Given the description of an element on the screen output the (x, y) to click on. 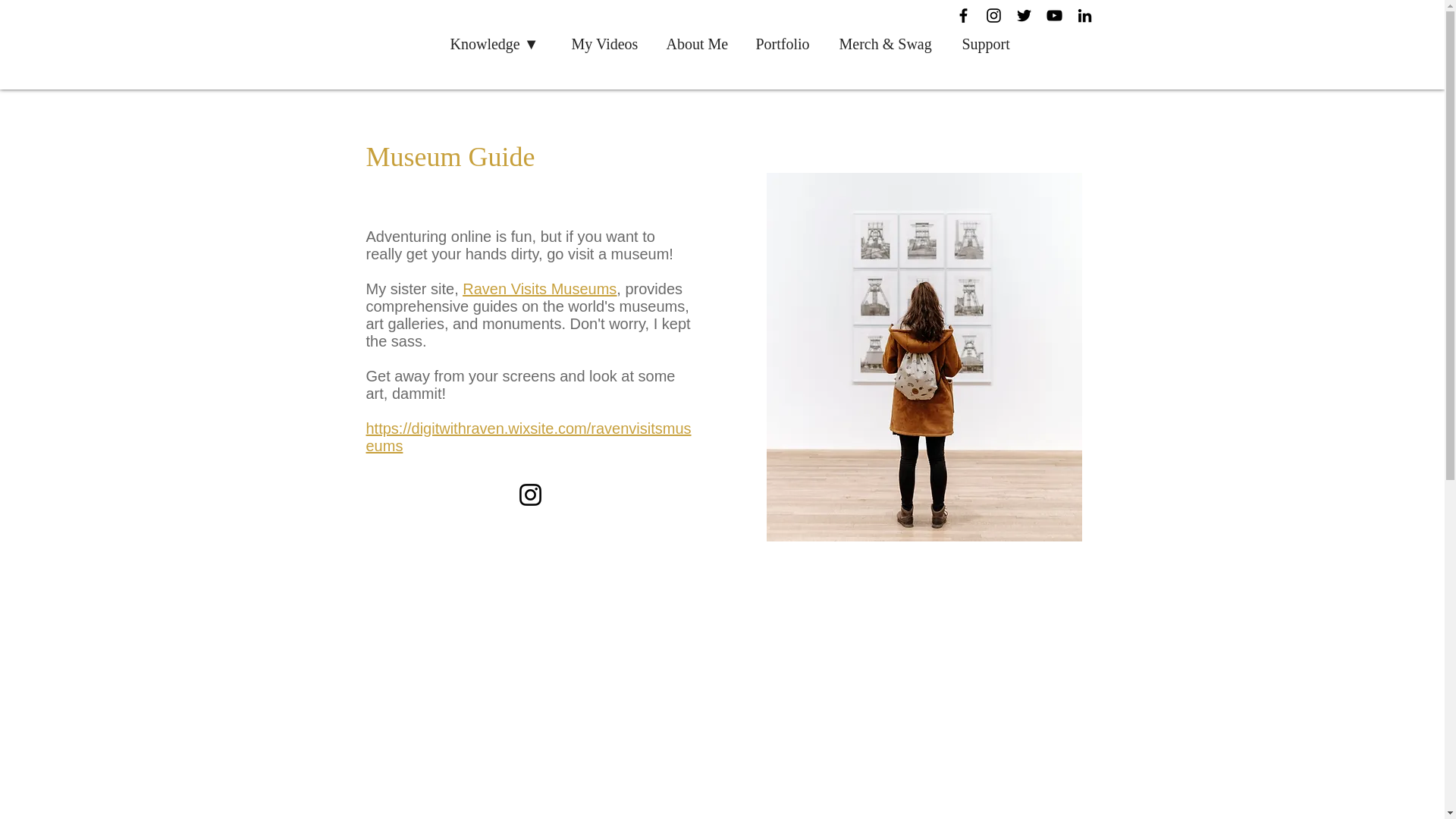
About Me (699, 44)
Support (989, 44)
Raven Visits Museums (539, 288)
My Videos (608, 44)
Portfolio (786, 44)
